Given the description of an element on the screen output the (x, y) to click on. 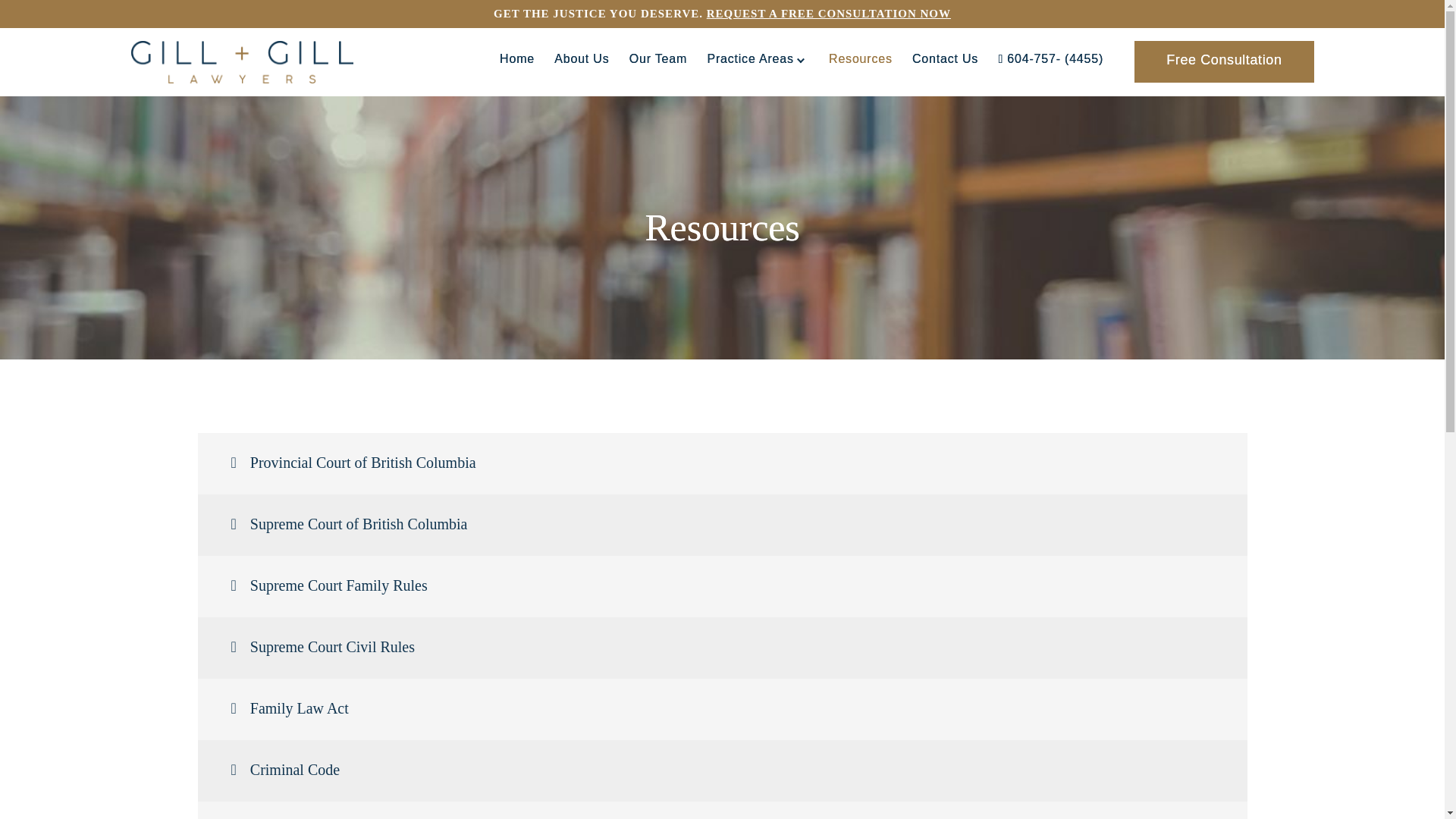
Contact Us (945, 58)
Our Team (657, 58)
Practice Areas (757, 58)
About Us (581, 58)
Free Consultation (1223, 61)
Home (516, 58)
REQUEST A FREE CONSULTATION NOW (828, 13)
Free Consultation (1223, 60)
Resources (860, 58)
